Given the description of an element on the screen output the (x, y) to click on. 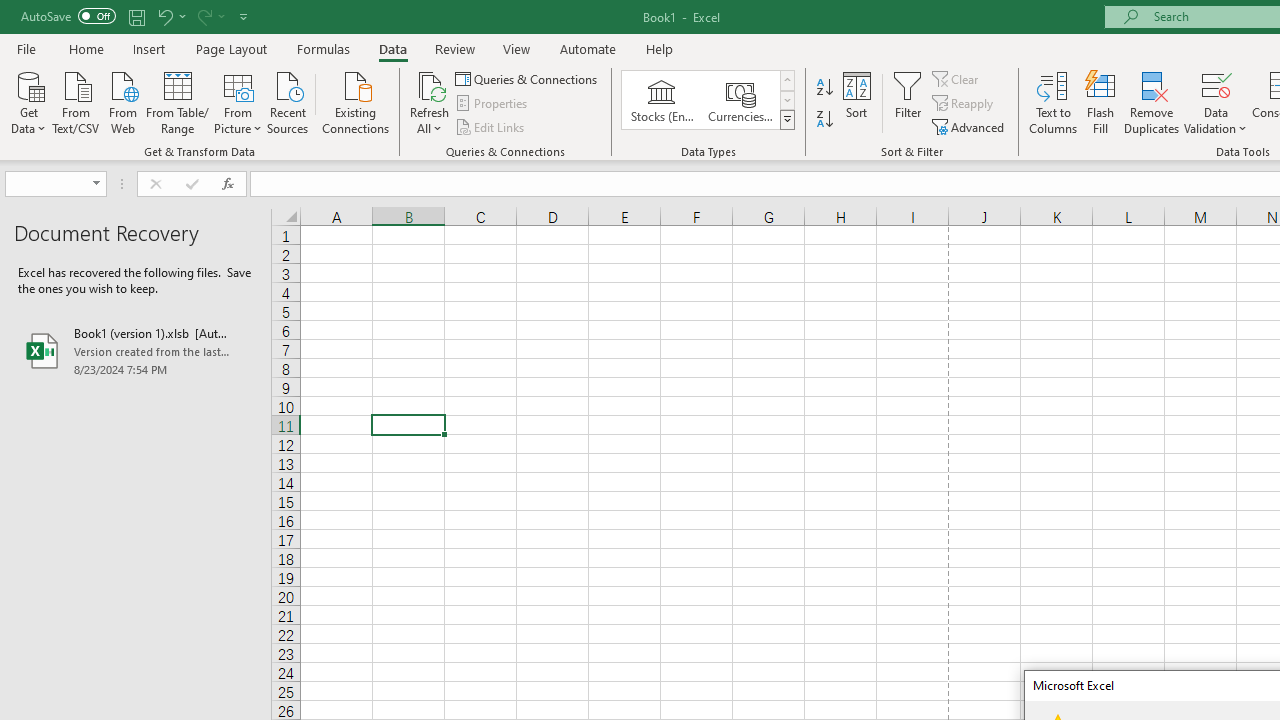
Remove Duplicates (1151, 102)
System (10, 11)
Data (392, 48)
Page Layout (230, 48)
Open (96, 183)
Refresh All (429, 84)
Recent Sources (287, 101)
Quick Access Toolbar (136, 16)
Clear (957, 78)
Flash Fill (1101, 102)
Class: NetUIImage (787, 119)
File Tab (26, 48)
Queries & Connections (527, 78)
Sort Z to A (824, 119)
Advanced... (970, 126)
